Given the description of an element on the screen output the (x, y) to click on. 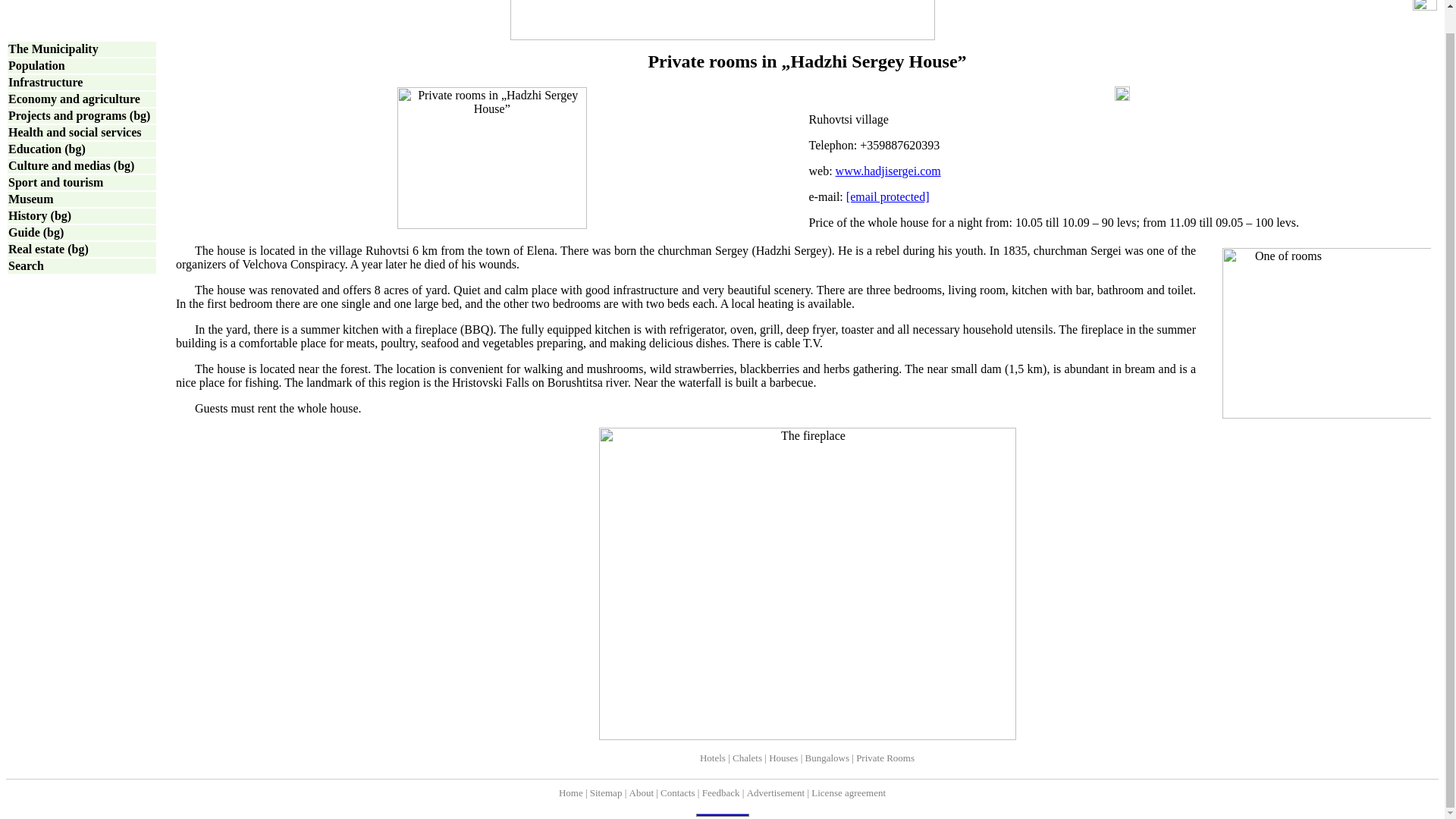
Economy and agriculture (73, 98)
About (640, 792)
Hotels (712, 757)
Sitemap (606, 791)
Population (36, 65)
Houses (782, 757)
Infrastructure (45, 82)
License agreement (847, 792)
Search (25, 265)
The Municipality (53, 48)
